Given the description of an element on the screen output the (x, y) to click on. 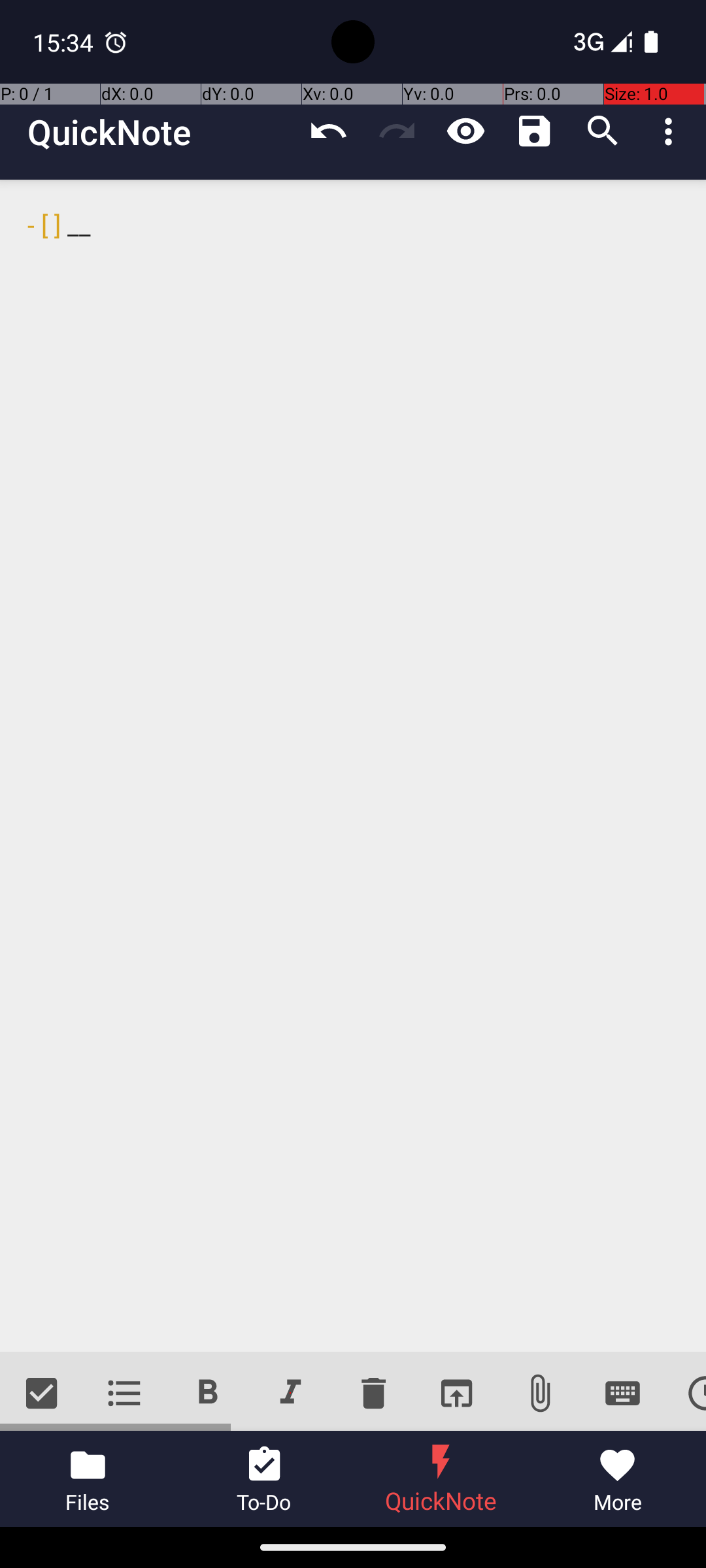
- [ ] __ Element type: android.widget.EditText (353, 765)
